Given the description of an element on the screen output the (x, y) to click on. 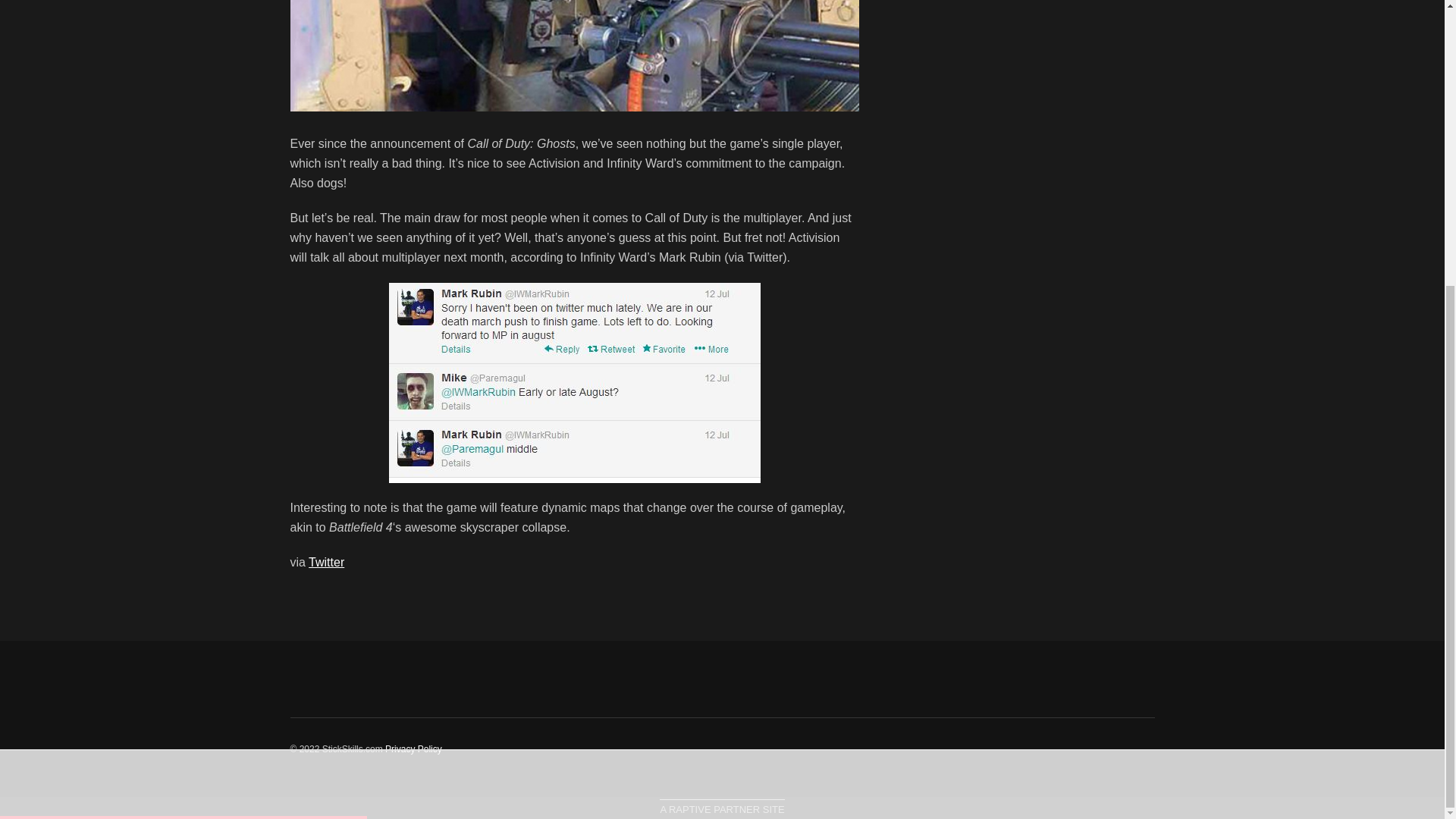
Twitter (325, 562)
Privacy Policy (413, 748)
